Given the description of an element on the screen output the (x, y) to click on. 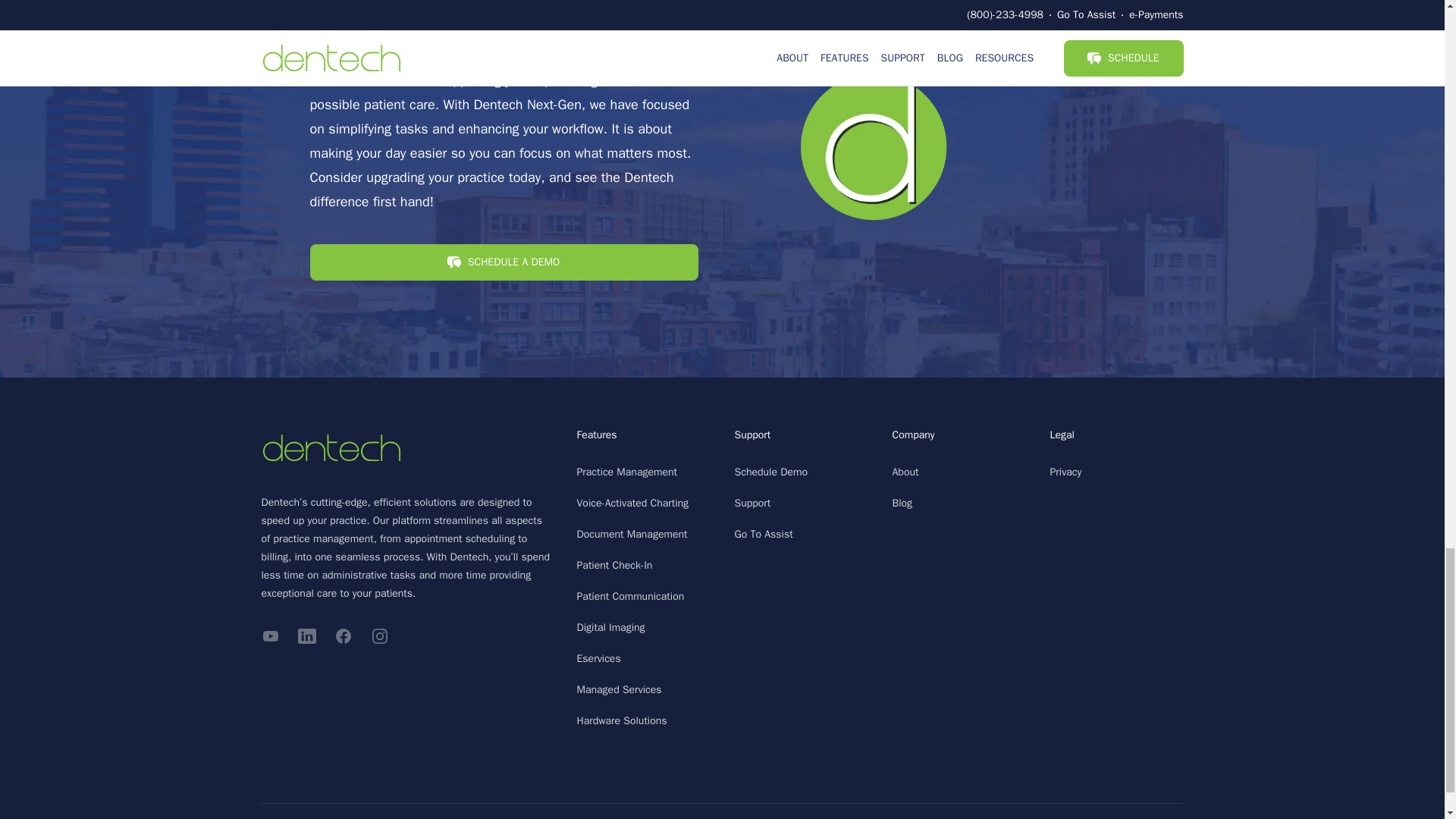
About (904, 472)
Instagram (378, 636)
Facebook (342, 636)
Patient Check-In (614, 564)
Digital Imaging (610, 626)
Patient Communication (630, 595)
Privacy (1065, 472)
LinkedIn (306, 636)
Blog (901, 502)
Document Management (631, 533)
Hardware Solutions (621, 720)
Eservices (598, 658)
Go To Assist (762, 533)
Managed Services (618, 689)
YouTube (269, 636)
